Given the description of an element on the screen output the (x, y) to click on. 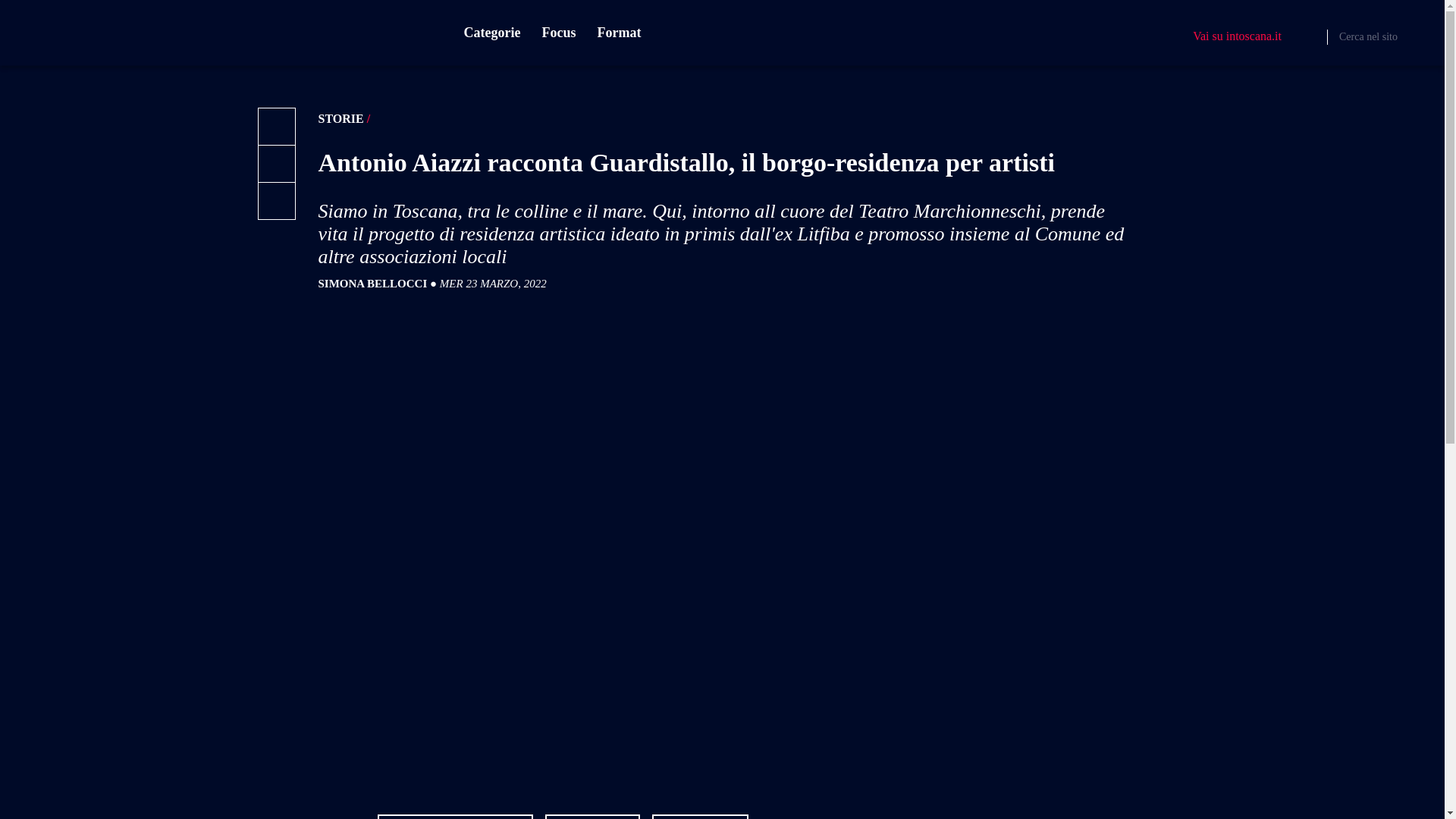
TEATRO (700, 816)
STORIE (341, 118)
SIMONA BELLOCCI (373, 283)
Vai su intoscana.it (1236, 36)
Format (618, 32)
Categorie (491, 32)
ARTISTI (592, 816)
ANTONIO AIAZZI (454, 816)
